Given the description of an element on the screen output the (x, y) to click on. 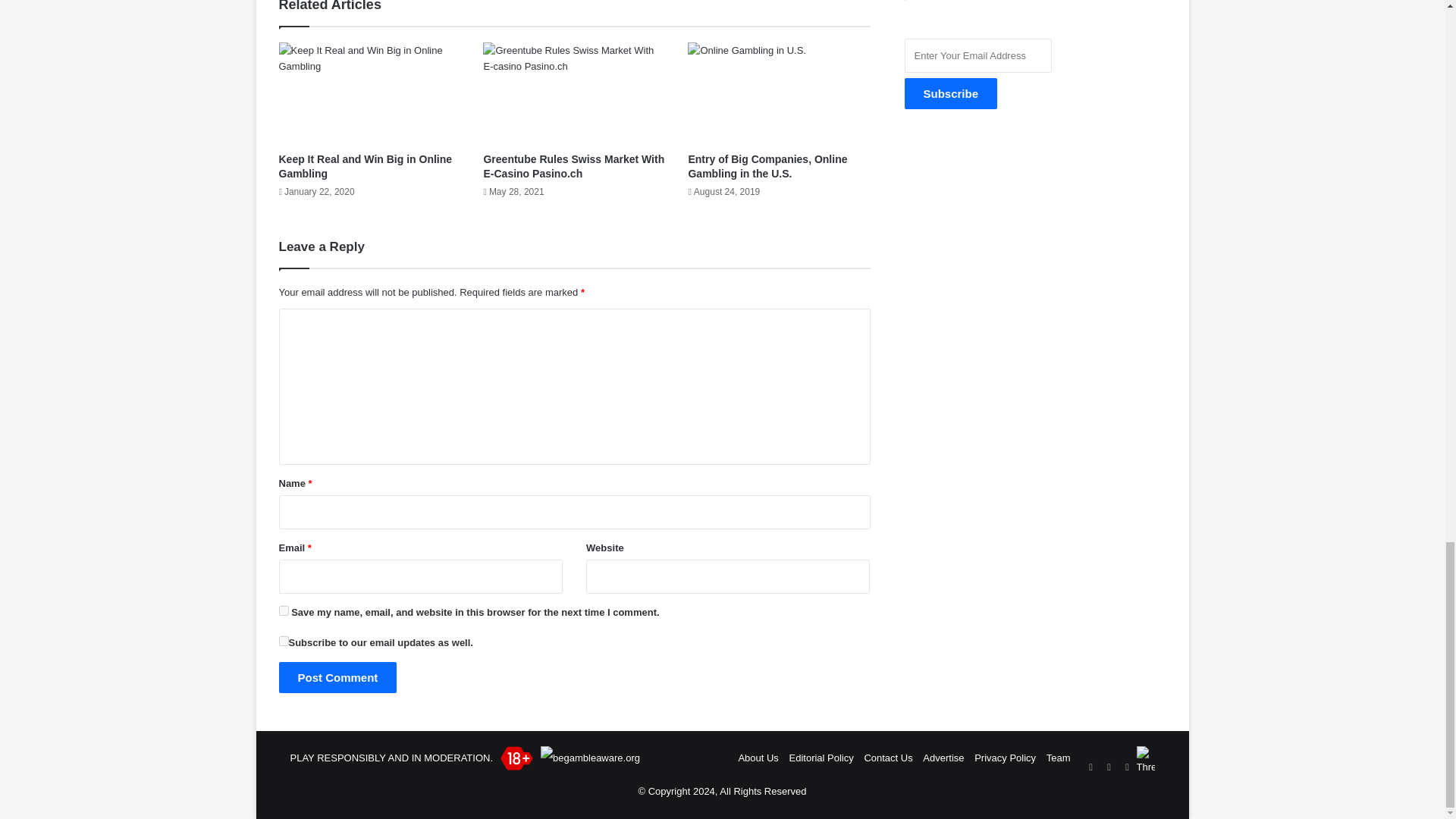
yes (283, 641)
yes (283, 610)
Post Comment (338, 676)
Subscribe (950, 92)
